Given the description of an element on the screen output the (x, y) to click on. 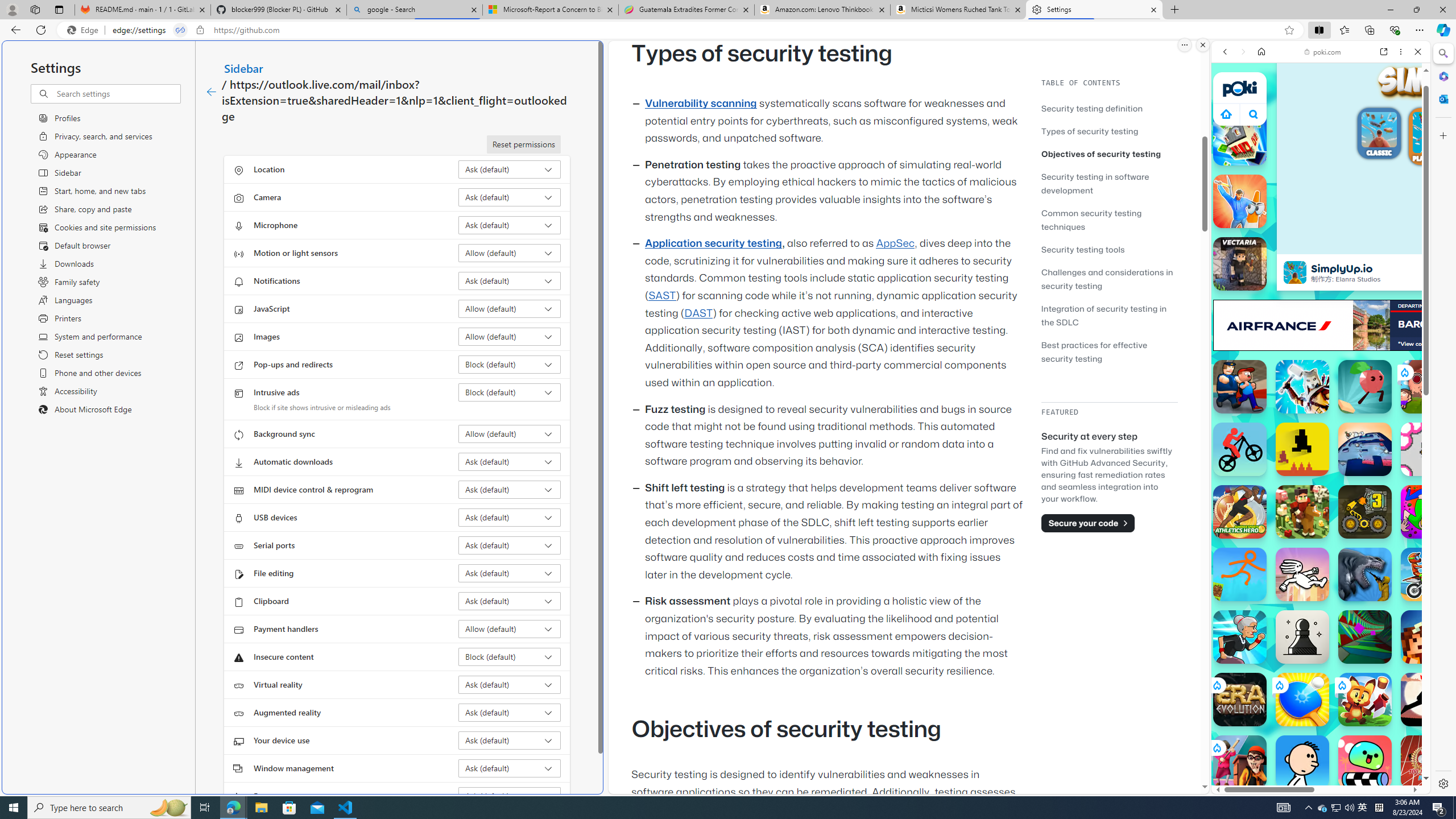
Hills of Steel (1253, 574)
Search the web (1326, 78)
Poor Eddie (1302, 761)
Sidebar (243, 67)
Common security testing techniques (1109, 219)
Stack City (1239, 138)
Moto X3M Moto X3M (1427, 574)
Notifications Ask (default) (509, 280)
Forward (1242, 51)
Era: Evolution Era: Evolution (1239, 699)
BoxRob 3 BoxRob 3 (1364, 511)
SEARCH TOOLS (1350, 130)
google - Search (414, 9)
